Given the description of an element on the screen output the (x, y) to click on. 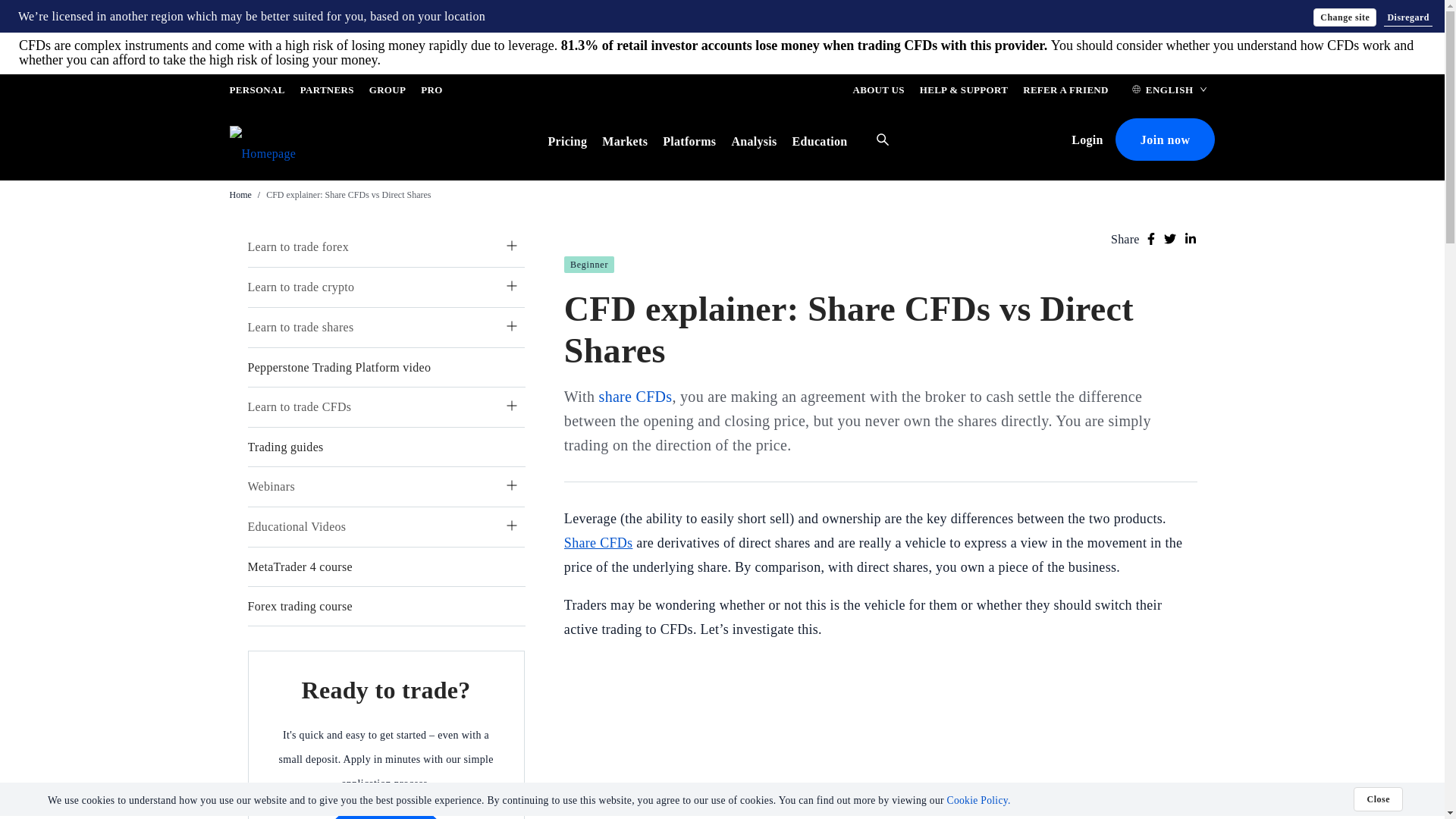
share CFDs (635, 396)
ENGLISH (1169, 92)
Markets (624, 141)
REFER A FRIEND (1065, 92)
Learn to trade crypto (300, 286)
Disregard (1408, 17)
PRO (431, 92)
Forex trading course (299, 605)
Pricing (566, 141)
Trading guides (285, 446)
